Given the description of an element on the screen output the (x, y) to click on. 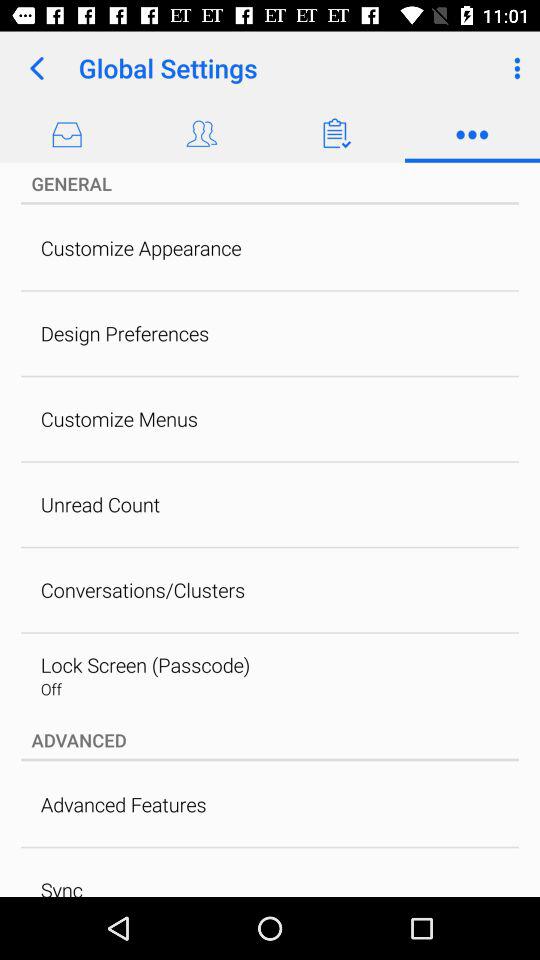
press the item next to the global settings icon (36, 68)
